Given the description of an element on the screen output the (x, y) to click on. 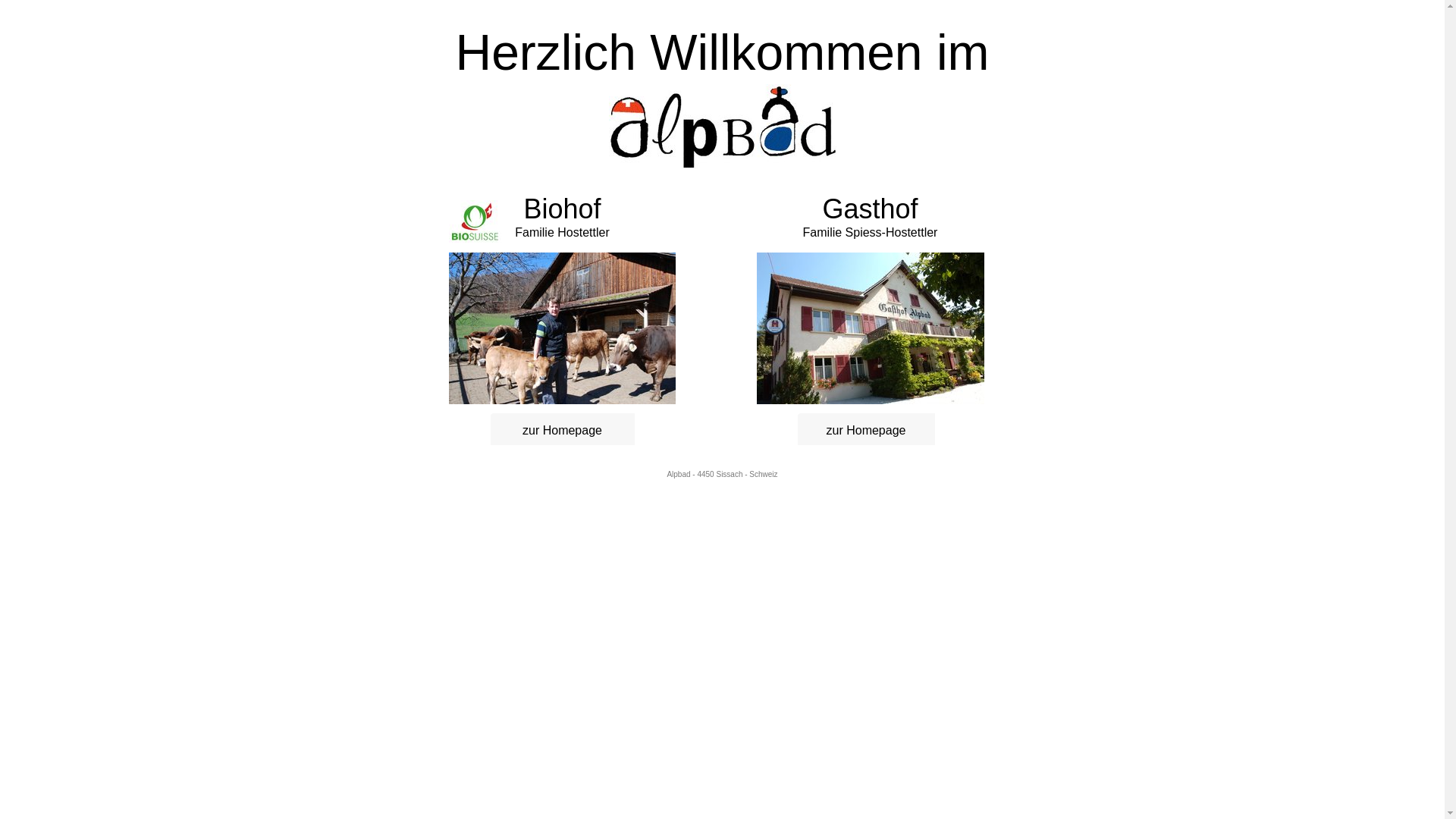
zur Homepage Element type: text (866, 430)
Biohof Element type: text (561, 213)
Gasthof Element type: text (869, 208)
Familie Hostettler Element type: text (561, 231)
Familie Spiess-Hostettler Element type: text (870, 231)
zur Homepage Element type: text (561, 430)
